Given the description of an element on the screen output the (x, y) to click on. 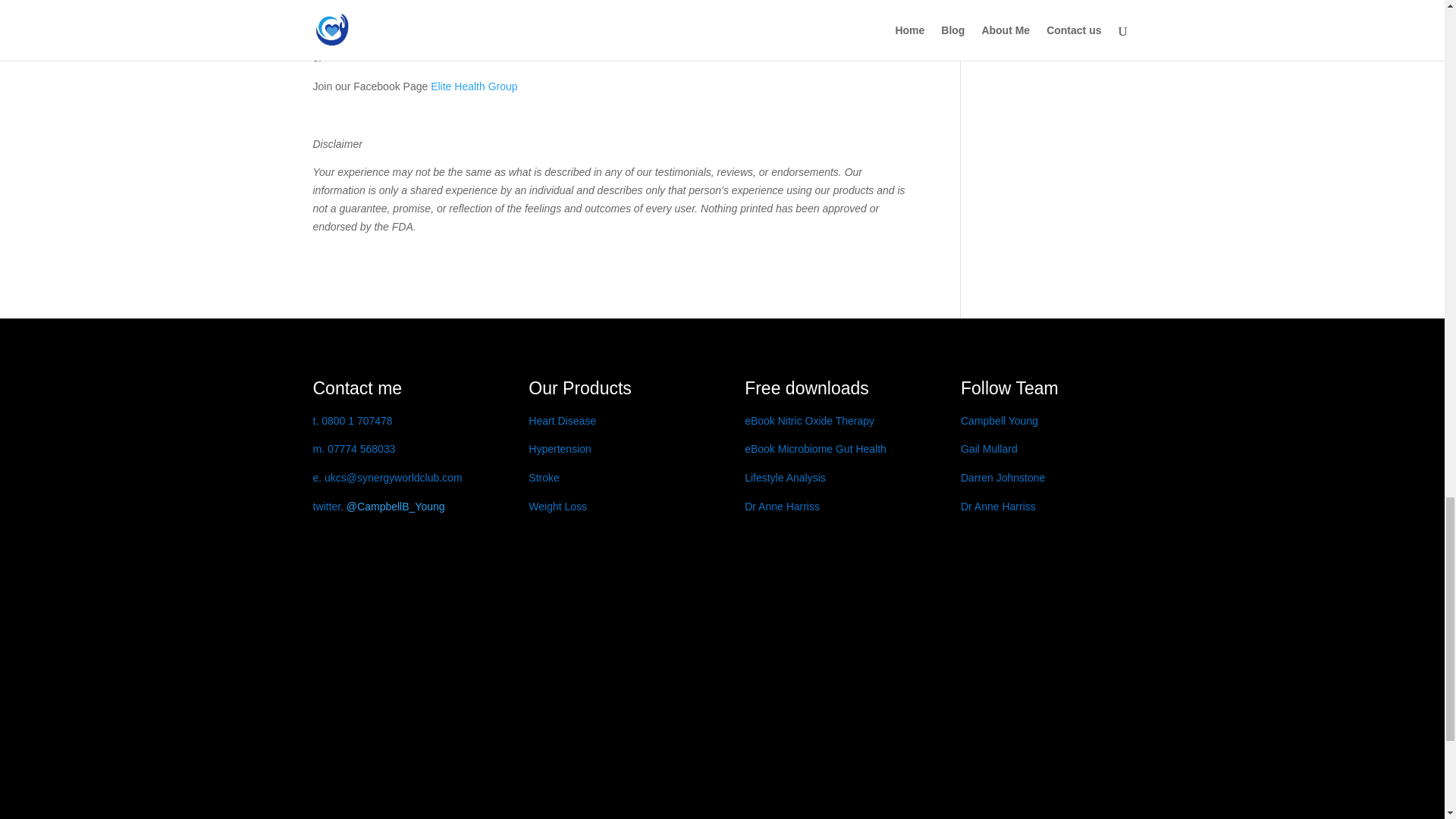
My Story (357, 388)
Elite Health Group (473, 86)
Contact me (357, 388)
